Given the description of an element on the screen output the (x, y) to click on. 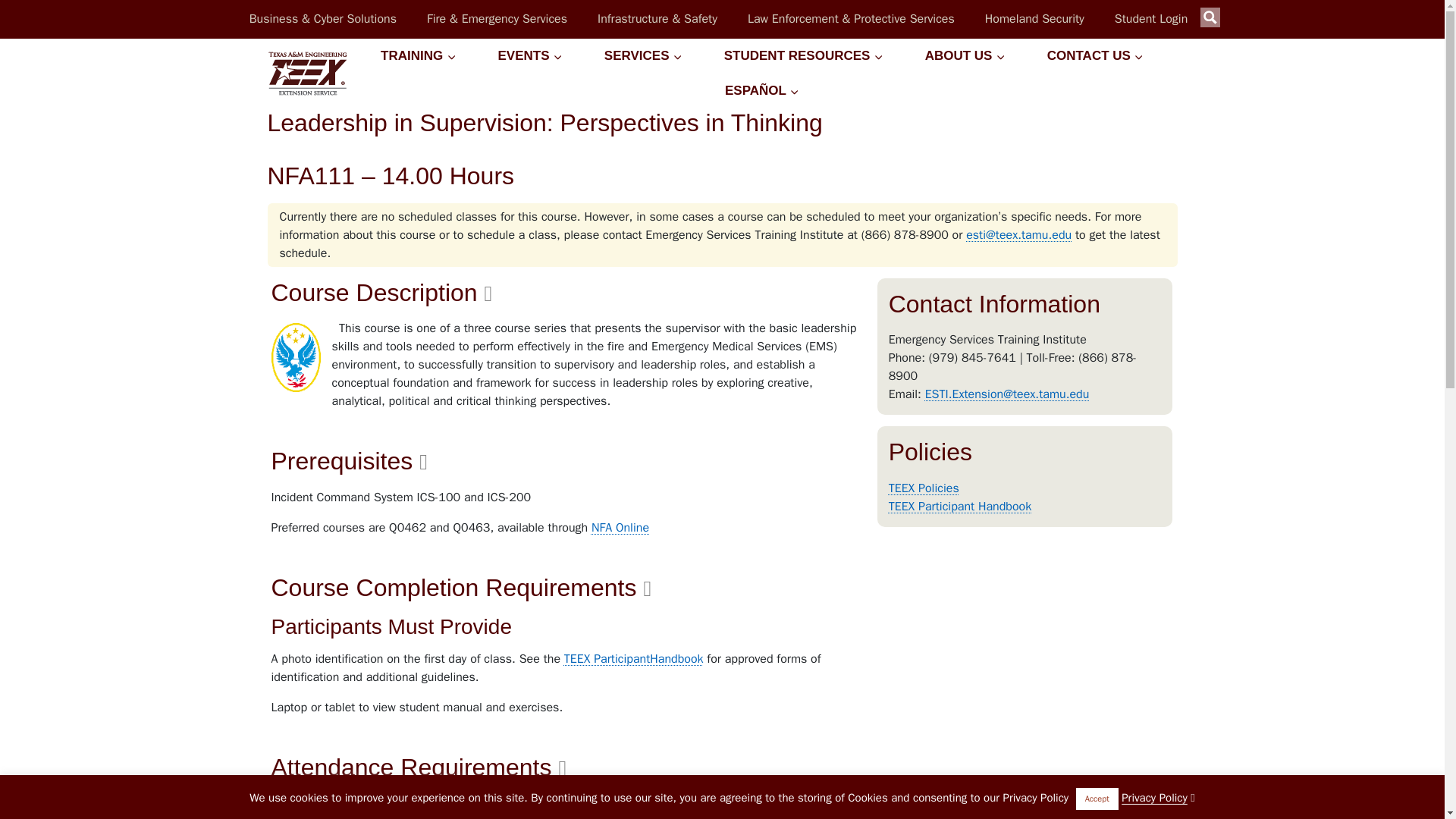
Student Login (1151, 18)
SERVICES (643, 55)
EVENTS (530, 55)
Homeland Security (1034, 18)
TRAINING (417, 55)
